Given the description of an element on the screen output the (x, y) to click on. 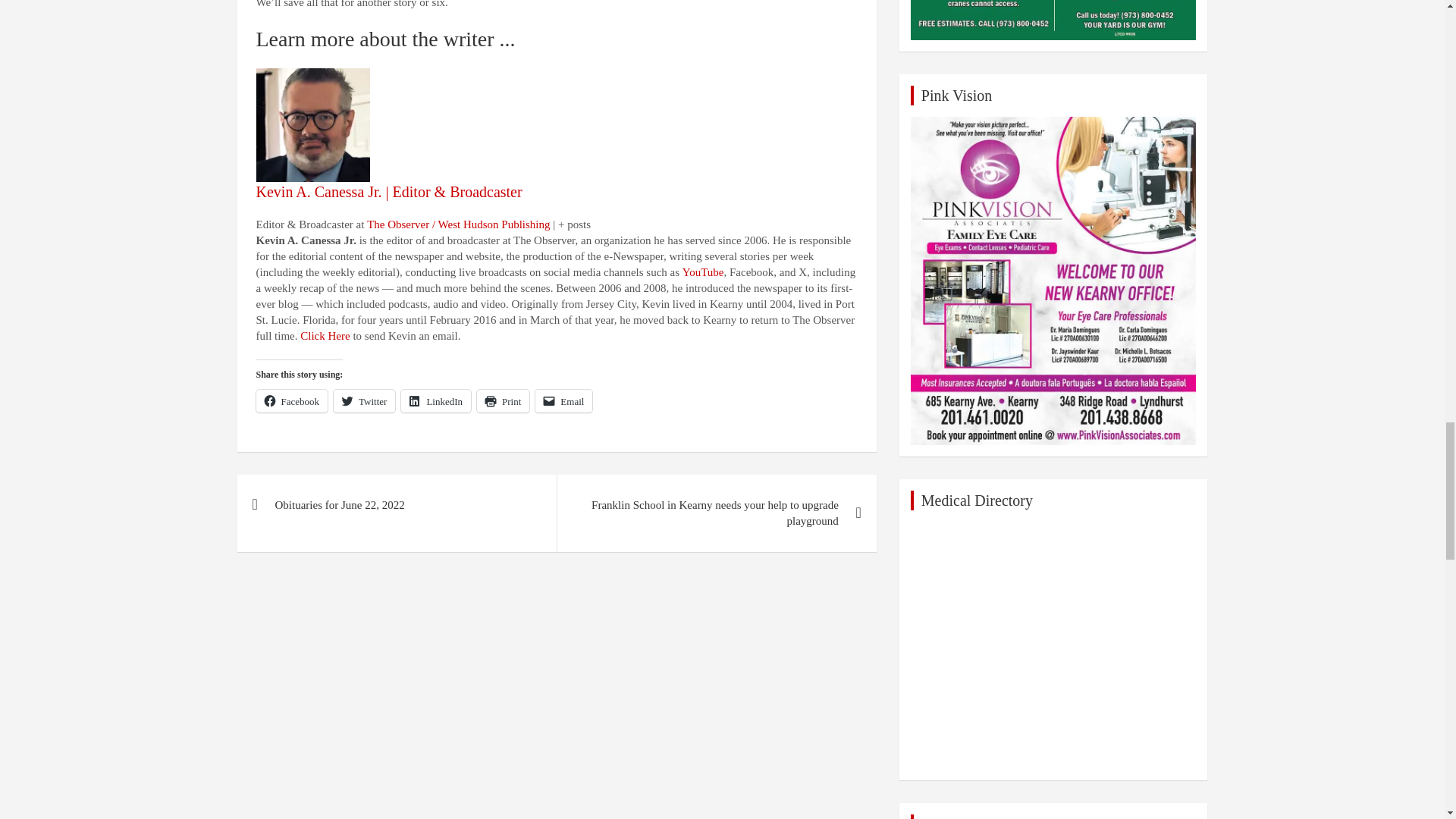
Click to email a link to a friend (563, 400)
Click to print (503, 400)
Click to share on Facebook (292, 400)
Click to share on LinkedIn (435, 400)
Click to share on Twitter (363, 400)
